Given the description of an element on the screen output the (x, y) to click on. 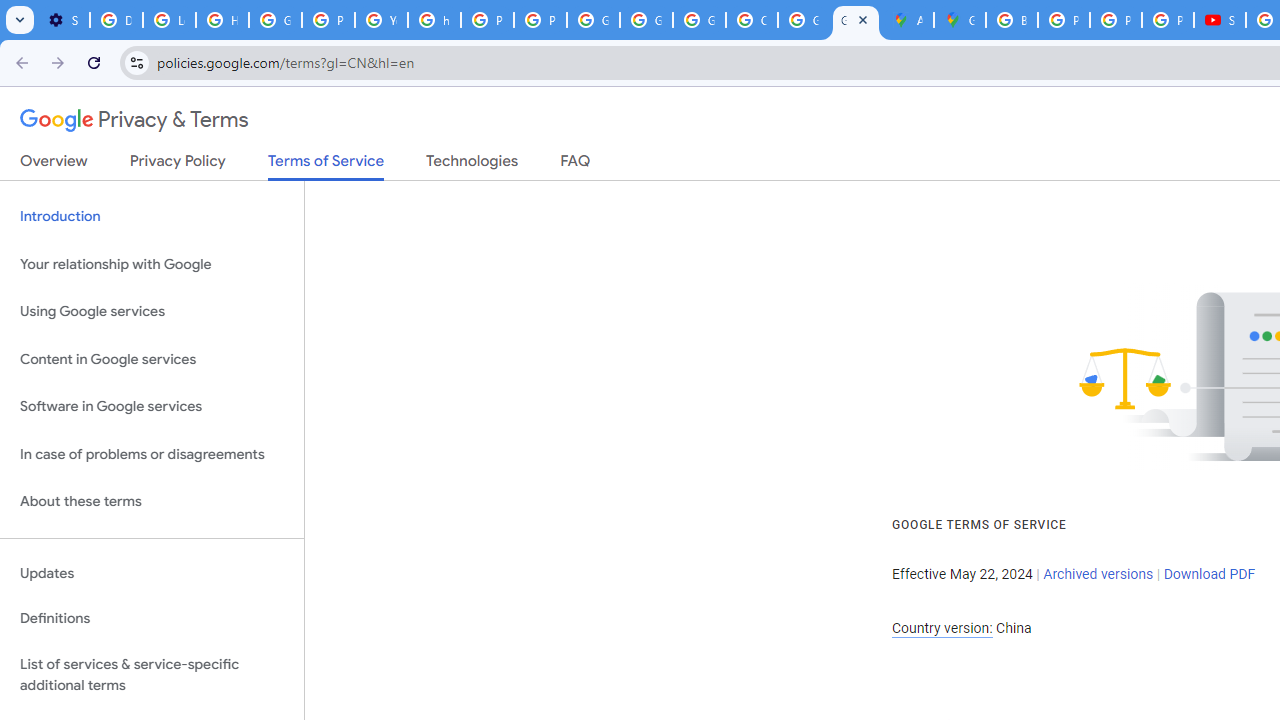
Technologies (472, 165)
Privacy Help Center - Policies Help (487, 20)
Archived versions (1098, 574)
YouTube (381, 20)
Blogger Policies and Guidelines - Transparency Center (1011, 20)
Learn how to find your photos - Google Photos Help (169, 20)
Your relationship with Google (152, 263)
List of services & service-specific additional terms (152, 674)
Google Account Help (275, 20)
Create your Google Account (751, 20)
Delete photos & videos - Computer - Google Photos Help (116, 20)
